Given the description of an element on the screen output the (x, y) to click on. 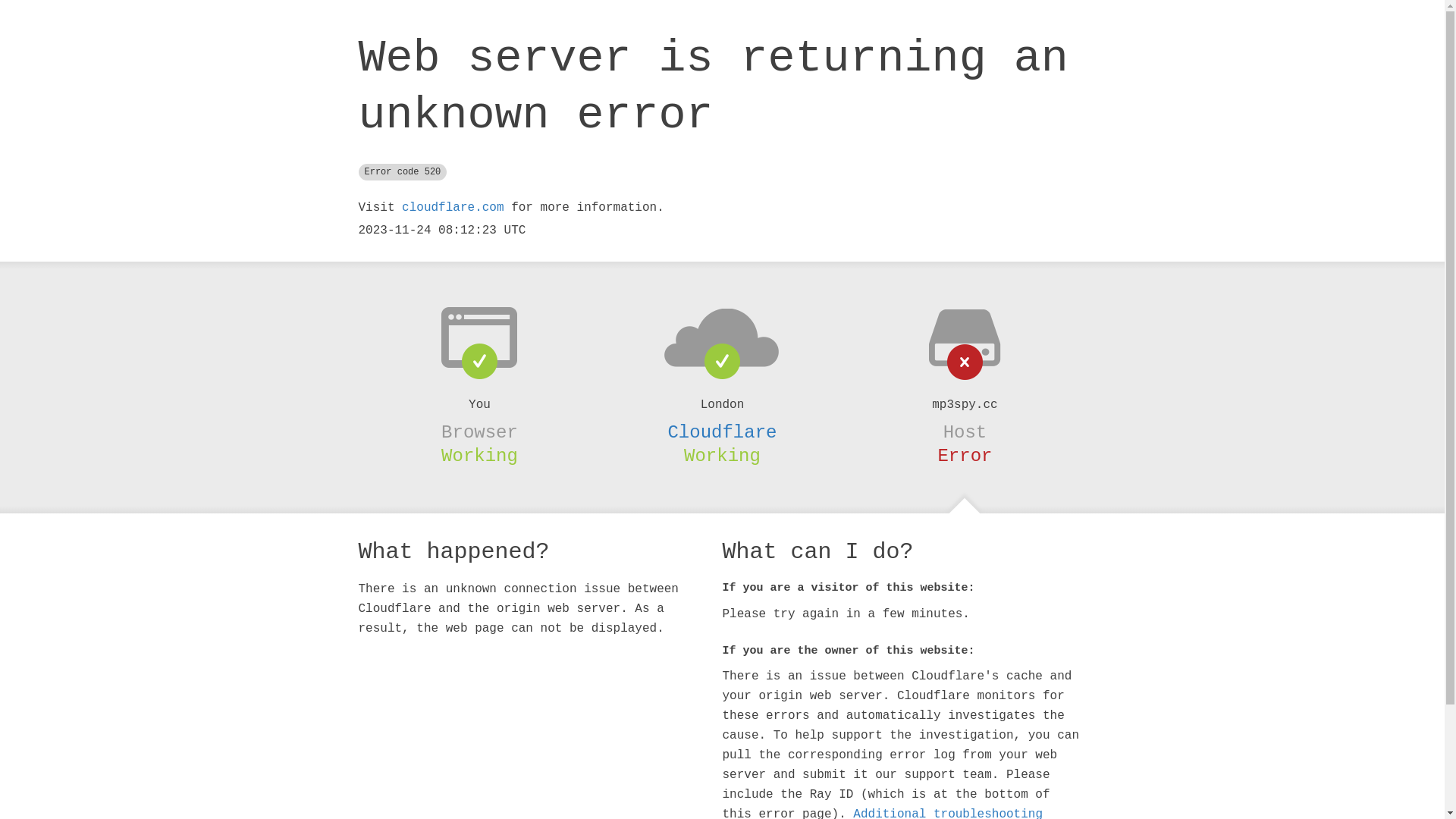
cloudflare.com Element type: text (452, 207)
Cloudflare Element type: text (721, 432)
